Given the description of an element on the screen output the (x, y) to click on. 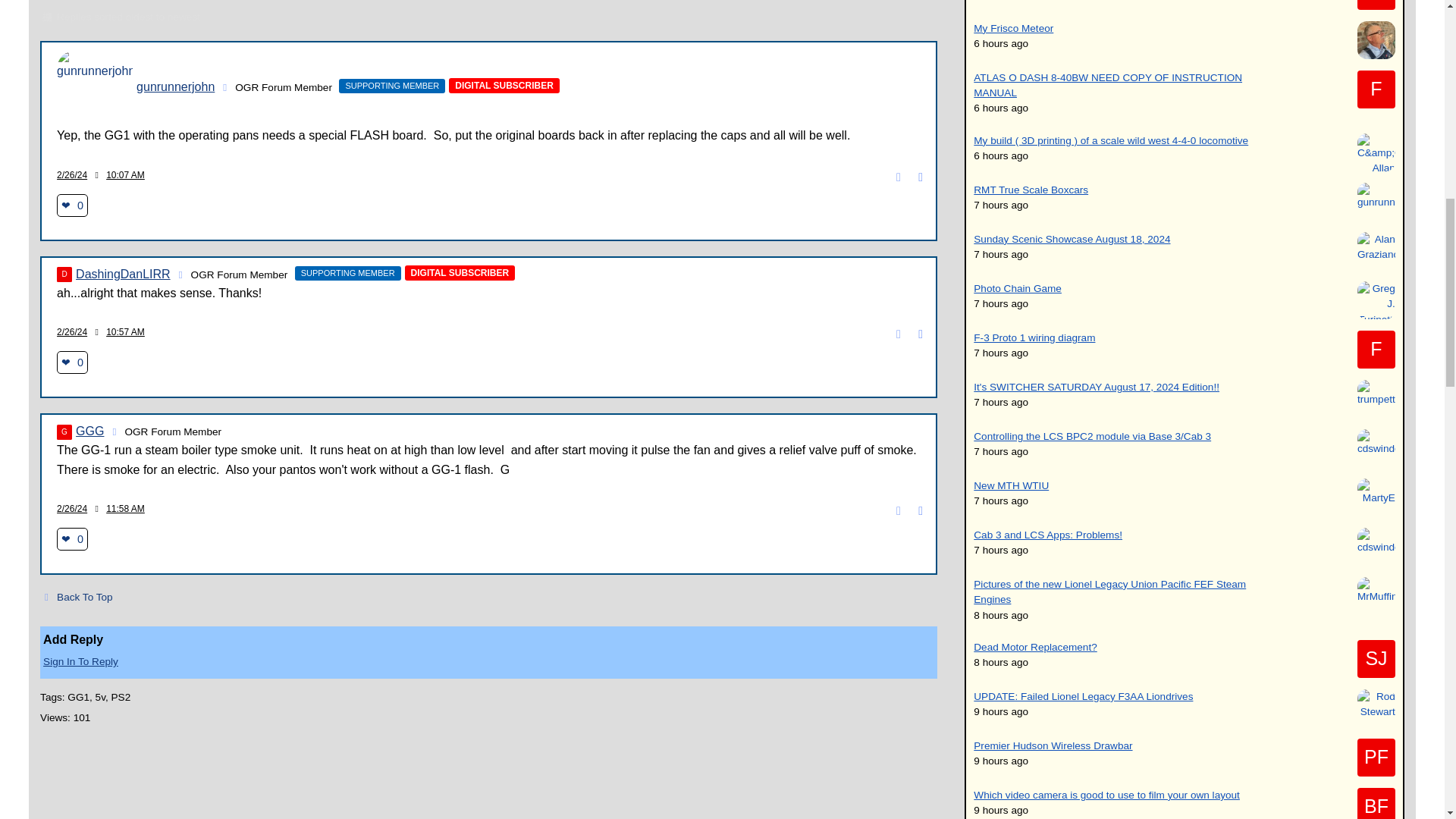
D (63, 273)
DashingDanLIRR (63, 273)
PF (1375, 757)
BF (1375, 803)
GGG is offline. (113, 431)
gunrunnerjohn (94, 87)
G (63, 432)
F (1375, 89)
DashingDanLIRR is offline. (180, 275)
T (1375, 4)
